Given the description of an element on the screen output the (x, y) to click on. 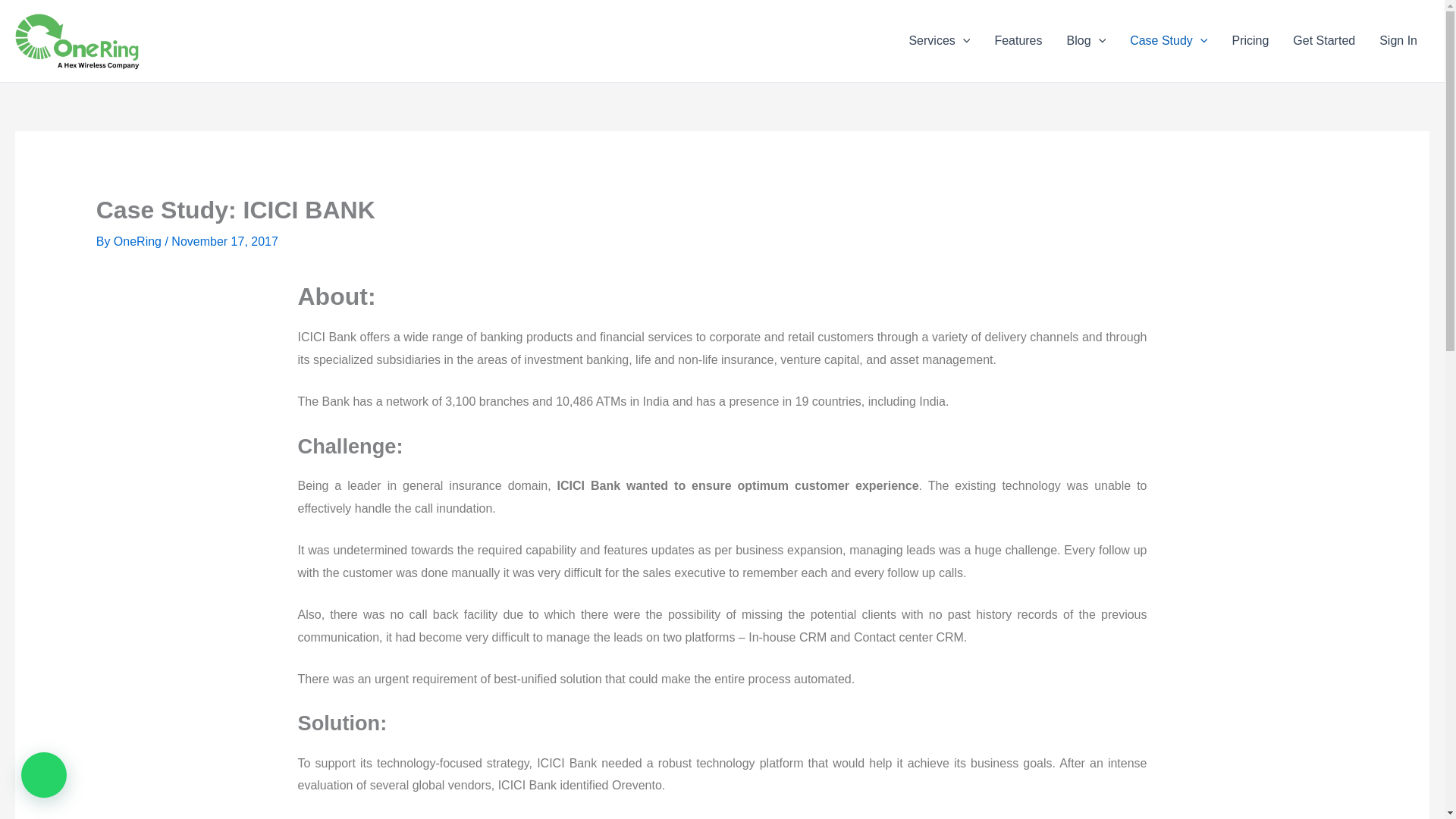
Features (1017, 40)
Case Study (1169, 40)
Services (938, 40)
Blog (1086, 40)
View all posts by OneRing (139, 241)
